Given the description of an element on the screen output the (x, y) to click on. 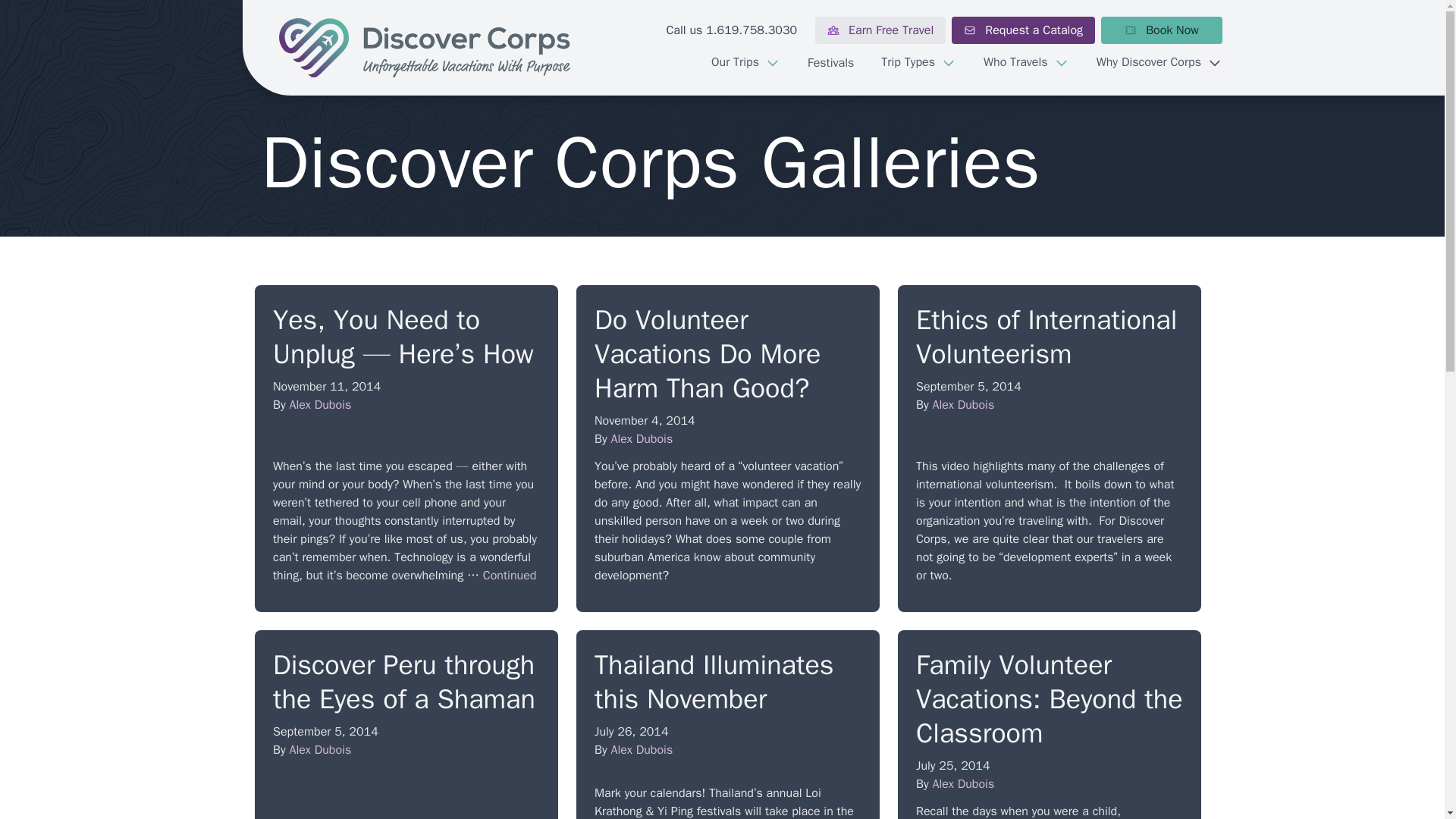
Book Now (1161, 30)
Our Trips (745, 62)
Earn Free Travel (879, 30)
Request a Catalog (1023, 30)
Call us 1.619.758.3030 (731, 30)
